Given the description of an element on the screen output the (x, y) to click on. 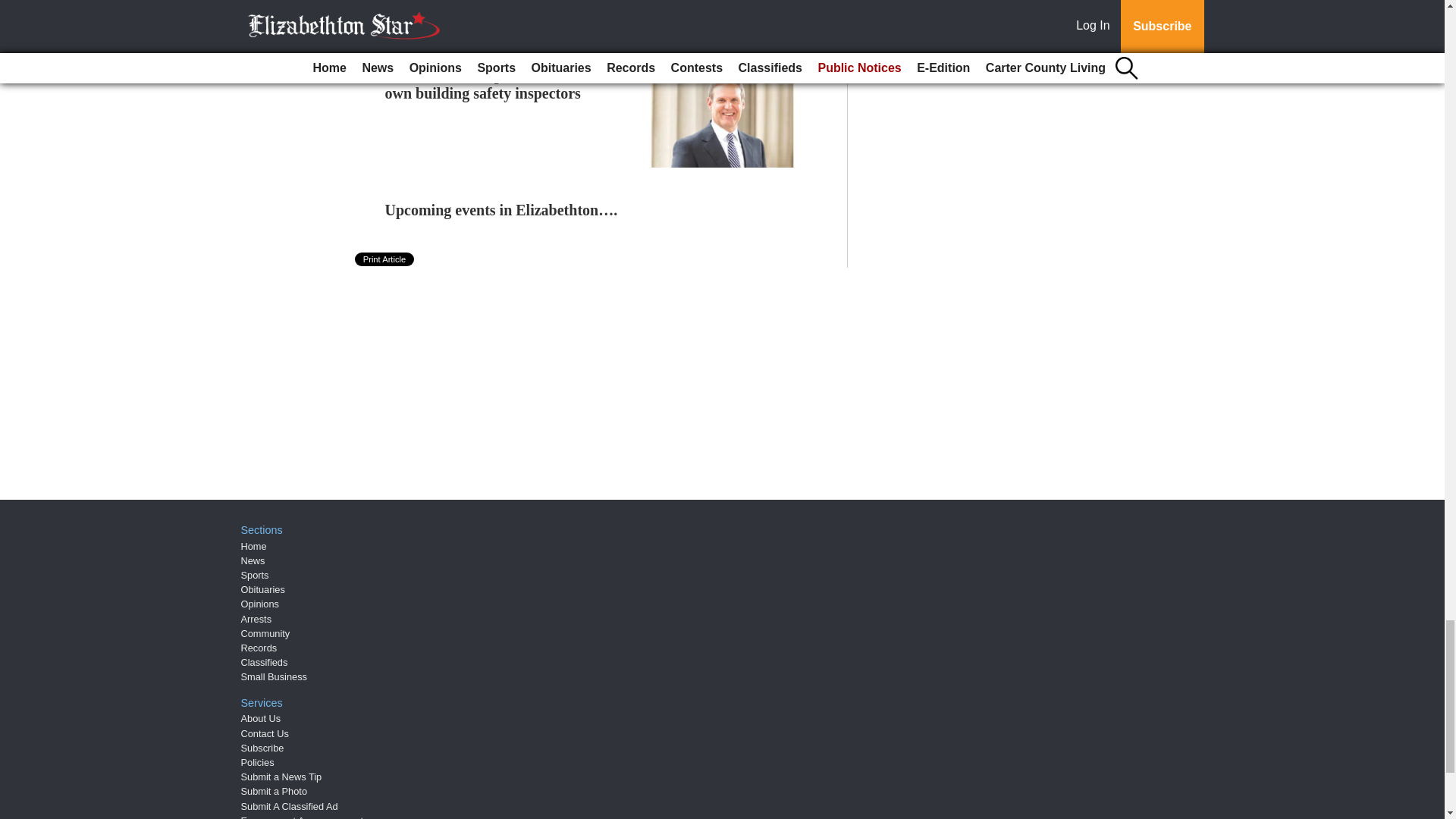
Home (253, 546)
Print Article (384, 259)
